Given the description of an element on the screen output the (x, y) to click on. 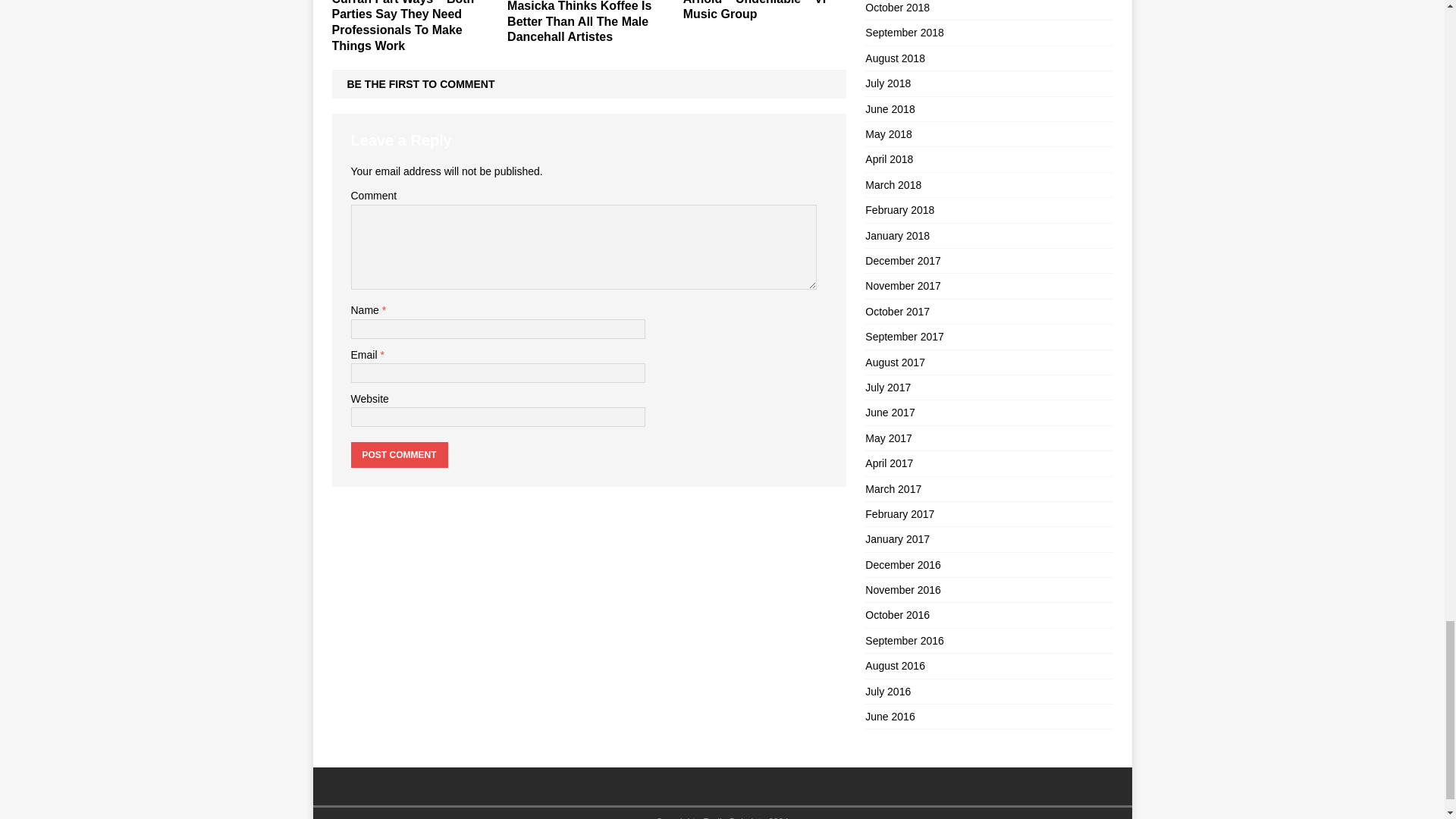
Post Comment (398, 454)
